Given the description of an element on the screen output the (x, y) to click on. 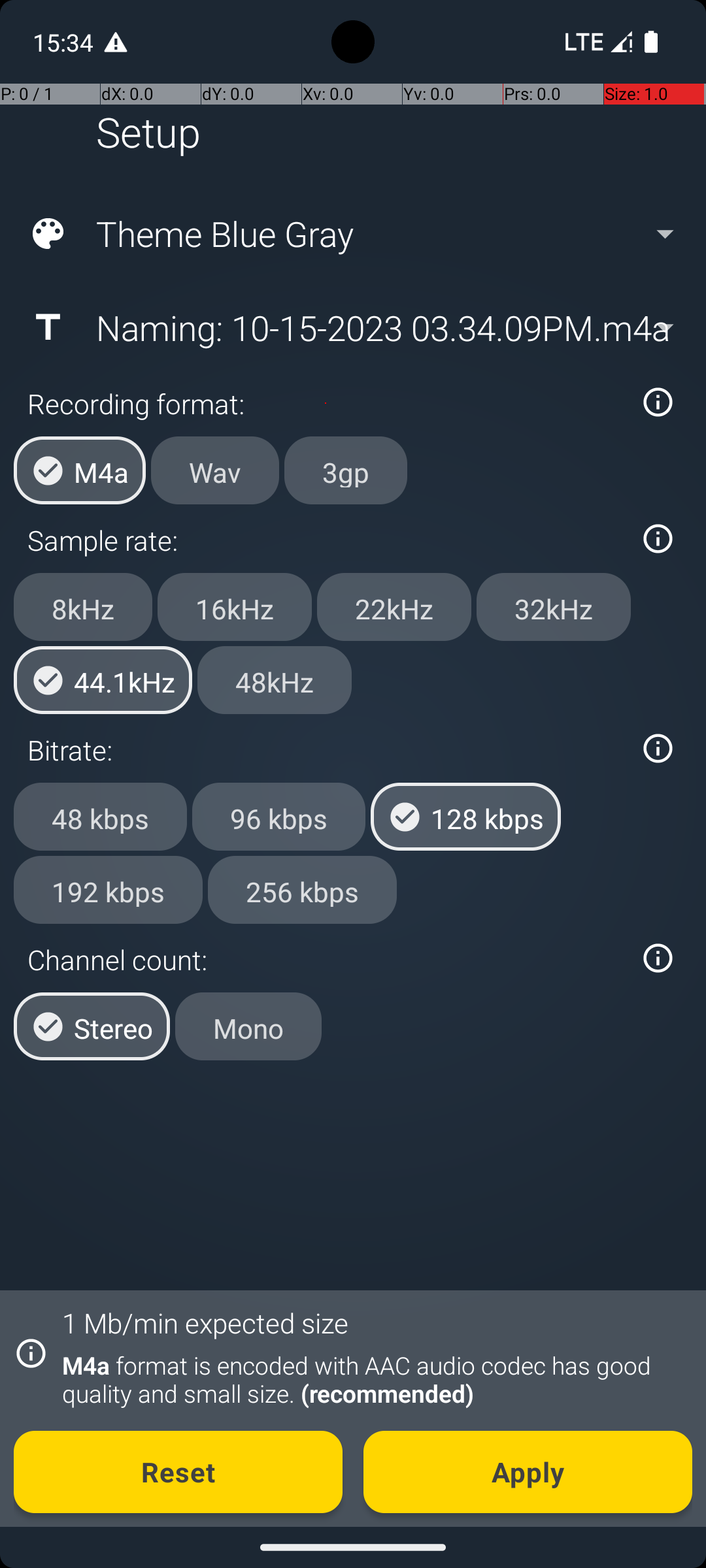
1 Mb/min expected size Element type: android.widget.TextView (205, 1322)
M4a format is encoded with AAC audio codec has good quality and small size. (recommended) Element type: android.widget.TextView (370, 1378)
Reset Element type: android.widget.Button (177, 1471)
Apply Element type: android.widget.Button (527, 1471)
Setup Element type: android.widget.TextView (148, 131)
Recording format: Element type: android.widget.TextView (325, 403)
M4a Element type: android.widget.TextView (79, 470)
Wav Element type: android.widget.TextView (215, 470)
3gp Element type: android.widget.TextView (345, 470)
Sample rate: Element type: android.widget.TextView (325, 539)
44.1kHz Element type: android.widget.TextView (102, 680)
16kHz Element type: android.widget.TextView (234, 606)
22kHz Element type: android.widget.TextView (394, 606)
32kHz Element type: android.widget.TextView (553, 606)
48kHz Element type: android.widget.TextView (274, 680)
8kHz Element type: android.widget.TextView (82, 606)
Bitrate: Element type: android.widget.TextView (325, 749)
128 kbps Element type: android.widget.TextView (465, 816)
192 kbps Element type: android.widget.TextView (107, 889)
256 kbps Element type: android.widget.TextView (301, 889)
48 kbps Element type: android.widget.TextView (99, 816)
96 kbps Element type: android.widget.TextView (278, 816)
Channel count: Element type: android.widget.TextView (325, 959)
Stereo Element type: android.widget.TextView (91, 1026)
Mono Element type: android.widget.TextView (248, 1026)
Theme Blue Gray Element type: android.widget.TextView (352, 233)
Naming: 10-15-2023 03.34.09PM.m4a Element type: android.widget.TextView (352, 327)
15:34 Element type: android.widget.TextView (64, 41)
Android System notification: Data warning Element type: android.widget.ImageView (115, 41)
Phone two bars. Element type: android.widget.FrameLayout (595, 41)
Battery 100 percent. Element type: android.widget.LinearLayout (650, 41)
No internet Element type: android.widget.ImageView (582, 41)
